Given the description of an element on the screen output the (x, y) to click on. 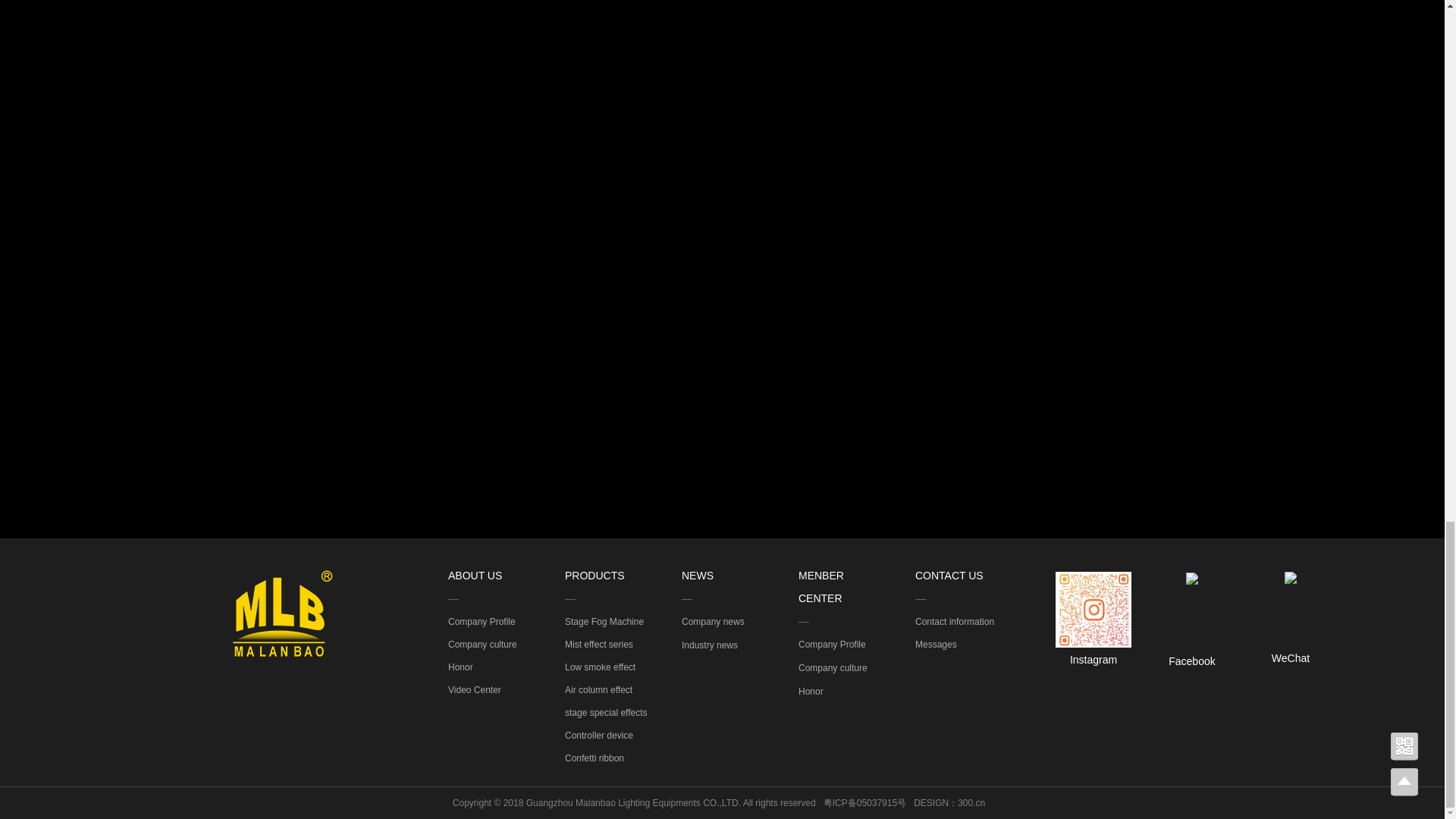
Mist effect series (598, 643)
Company Profile (481, 620)
Controller device (598, 734)
Malanbao (1093, 609)
Honor (460, 665)
Malanbao (282, 613)
Air column effect  (599, 688)
Messages (935, 643)
Malanbao (1192, 578)
Video Center (474, 688)
Company culture (482, 643)
stage special effects (605, 711)
Low smoke effect (599, 665)
Industry news (709, 644)
Stage Fog Machine (603, 620)
